Given the description of an element on the screen output the (x, y) to click on. 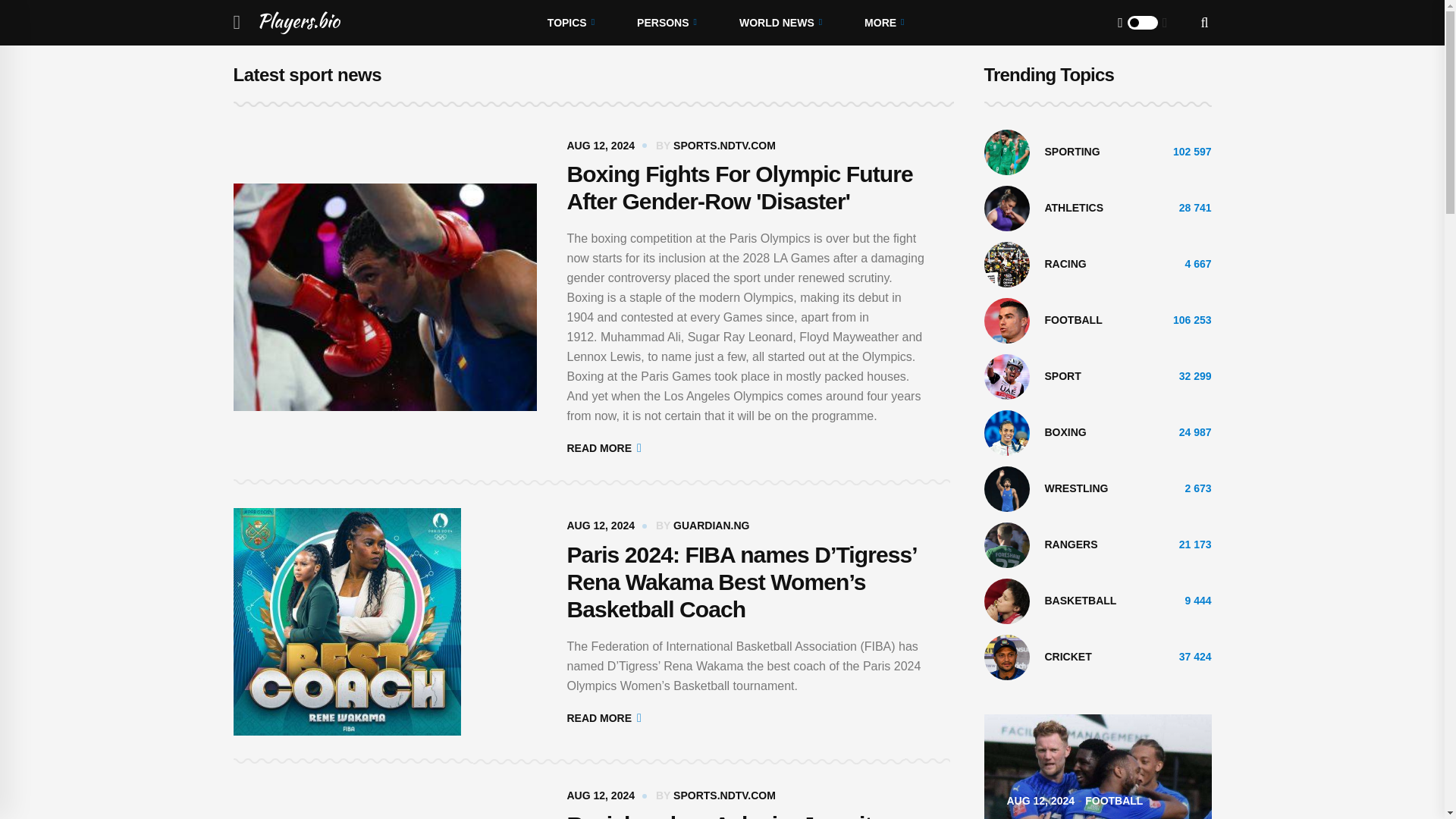
WORLD NEWS (780, 22)
Persons (666, 22)
TOPICS (570, 22)
PERSONS (666, 22)
MORE (883, 22)
Topics (570, 22)
